Given the description of an element on the screen output the (x, y) to click on. 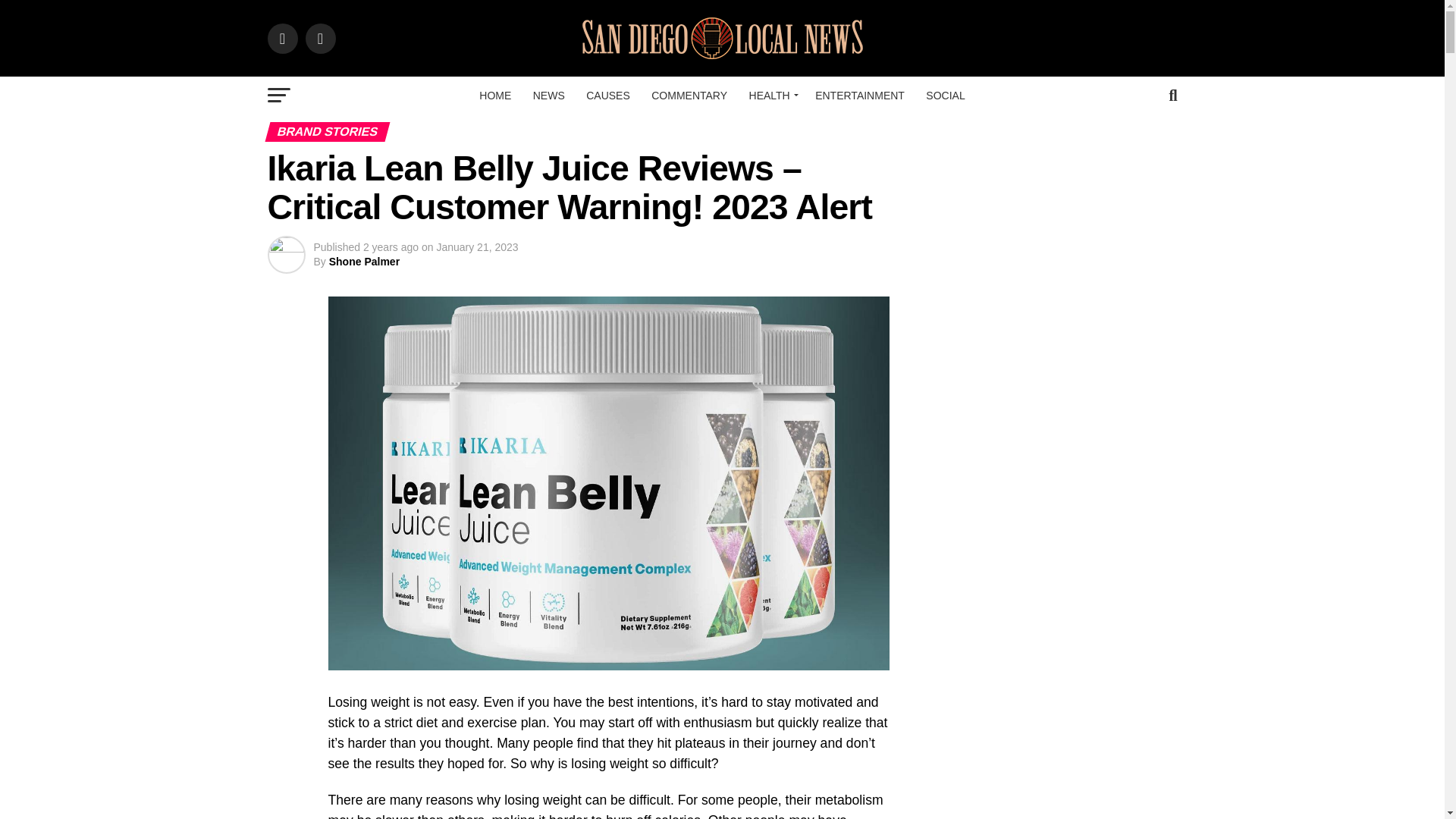
HEALTH (771, 95)
NEWS (548, 95)
ENTERTAINMENT (860, 95)
Posts by Shone Palmer (363, 261)
COMMENTARY (689, 95)
Shone Palmer (363, 261)
CAUSES (607, 95)
SOCIAL (945, 95)
HOME (494, 95)
